Given the description of an element on the screen output the (x, y) to click on. 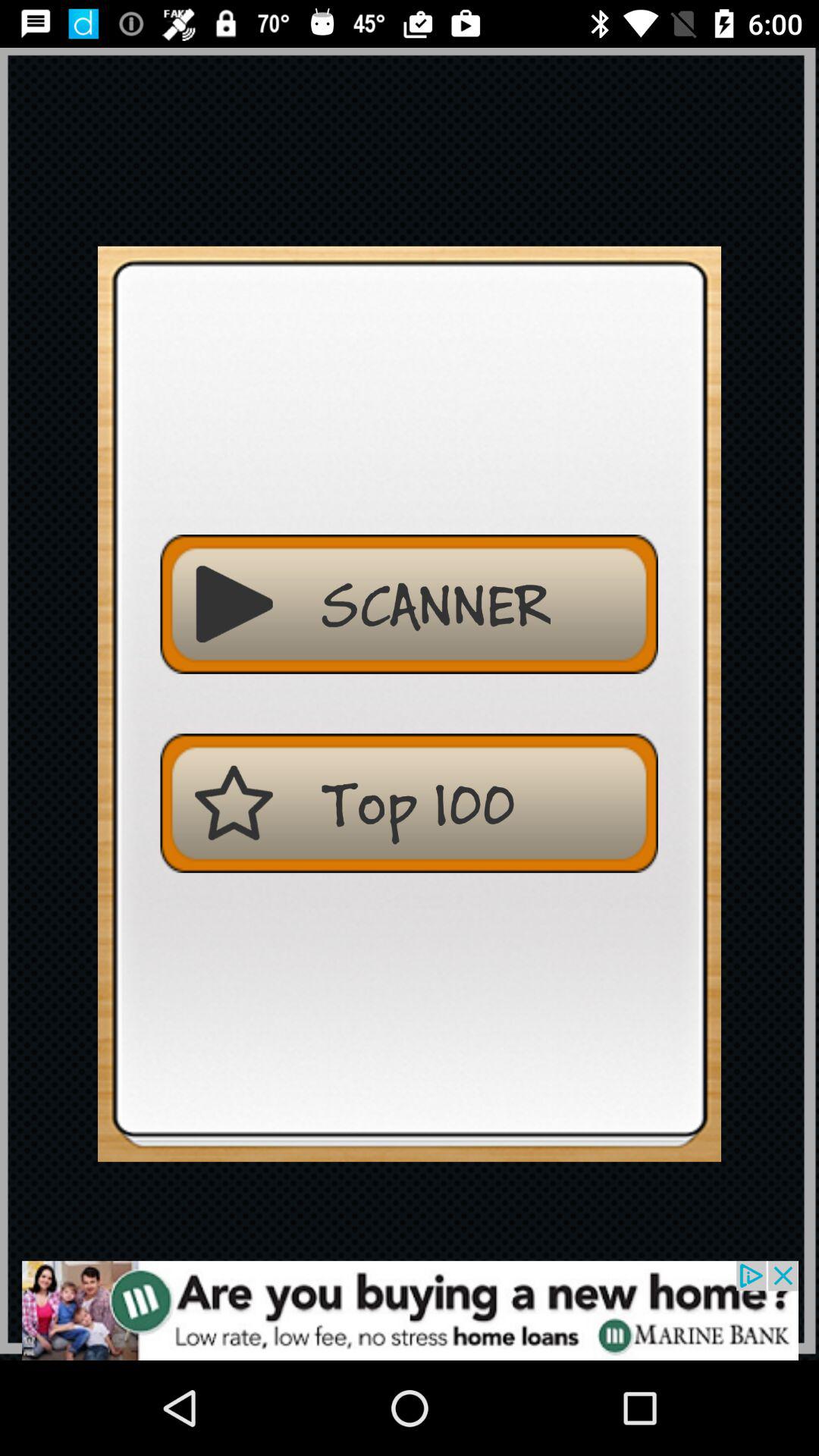
go to advertisement (409, 1310)
